Given the description of an element on the screen output the (x, y) to click on. 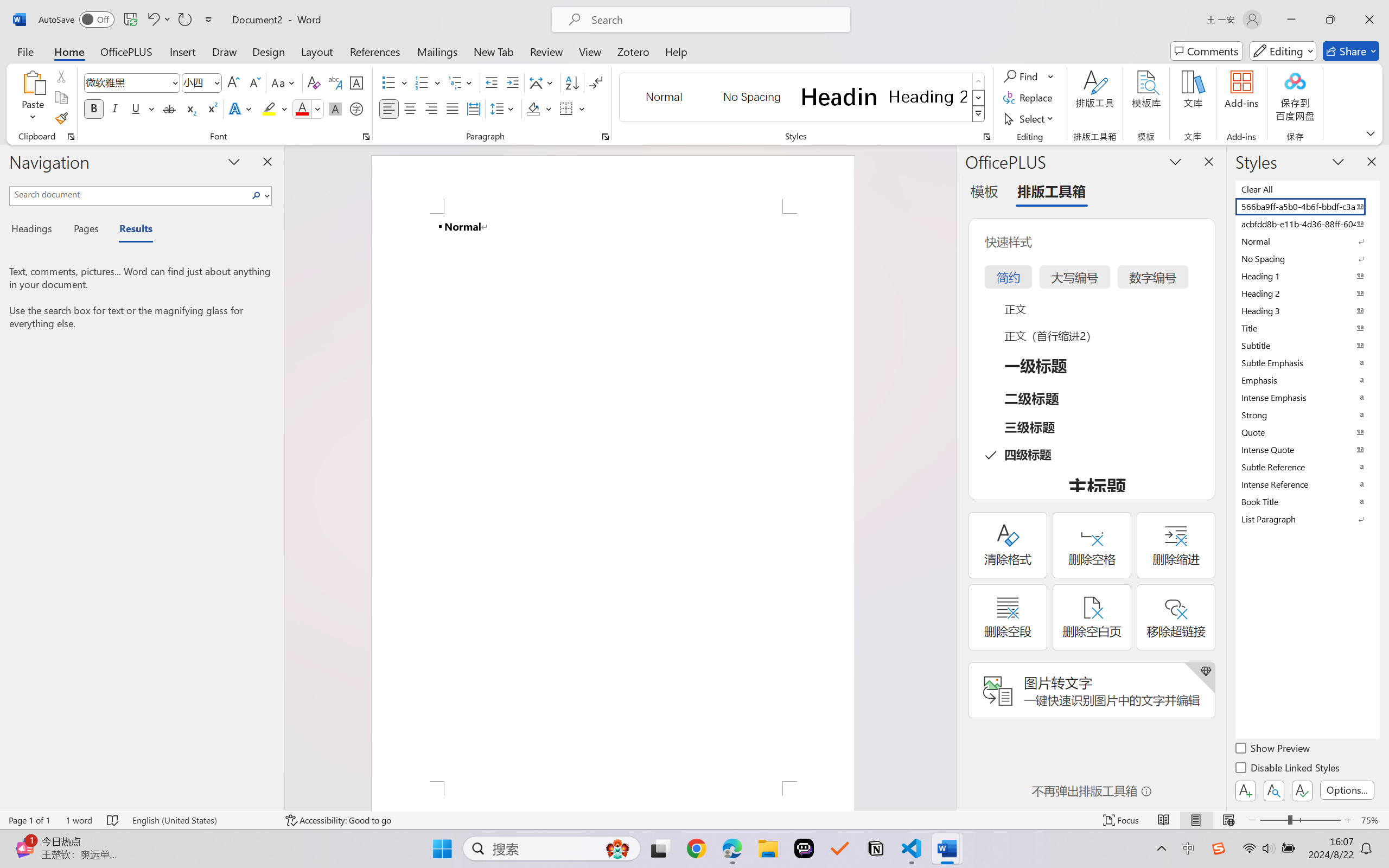
Strikethrough (169, 108)
Styles (978, 113)
Increase Indent (512, 82)
Zoom In (1348, 819)
No Spacing (1306, 258)
566ba9ff-a5b0-4b6f-bbdf-c3ab41993fc2 (1306, 206)
Styles... (986, 136)
Font Color (308, 108)
Class: NetUIImage (978, 114)
Clear Formatting (313, 82)
File Tab (24, 51)
